Given the description of an element on the screen output the (x, y) to click on. 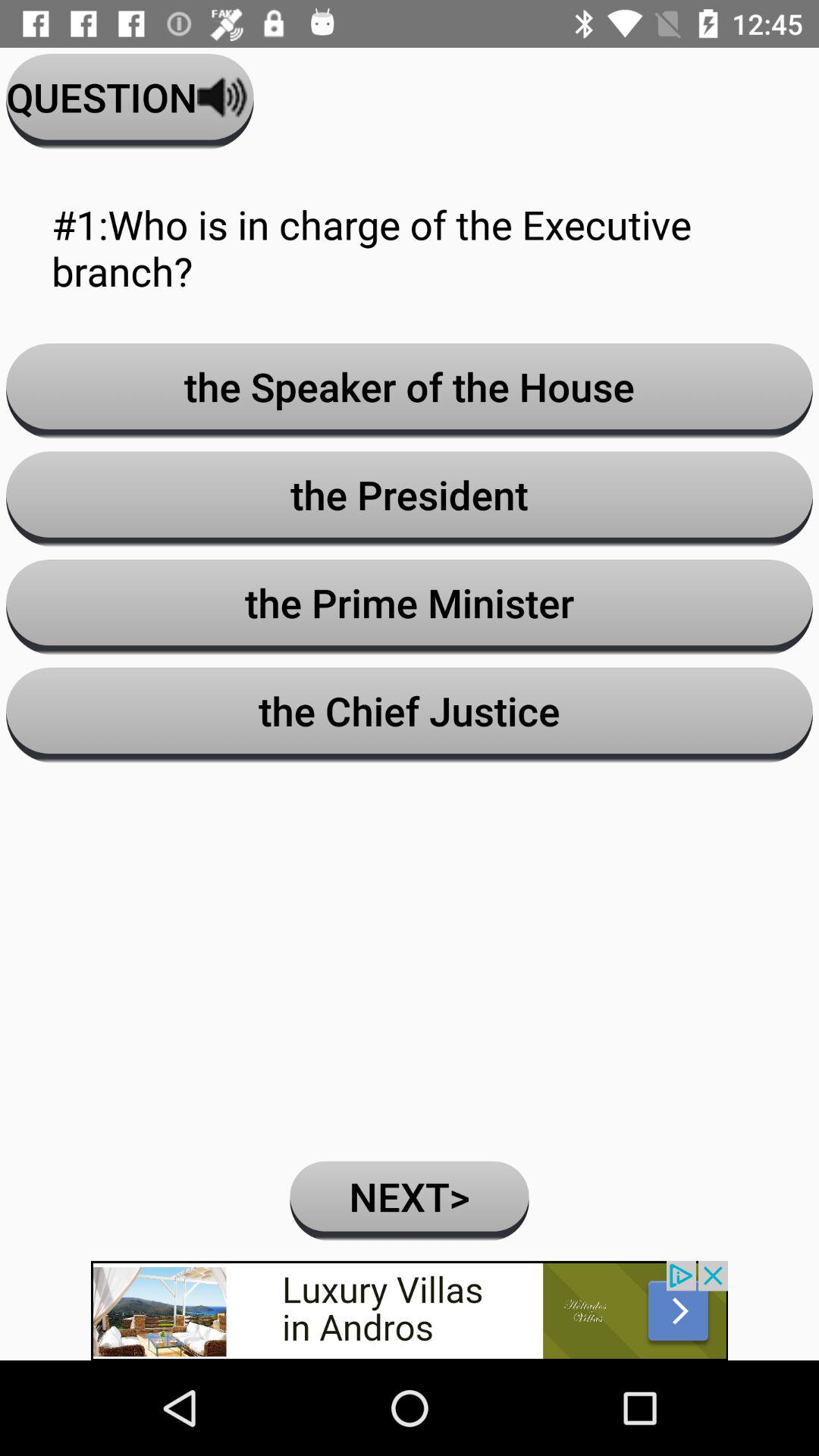
advertisement panel (409, 1310)
